Given the description of an element on the screen output the (x, y) to click on. 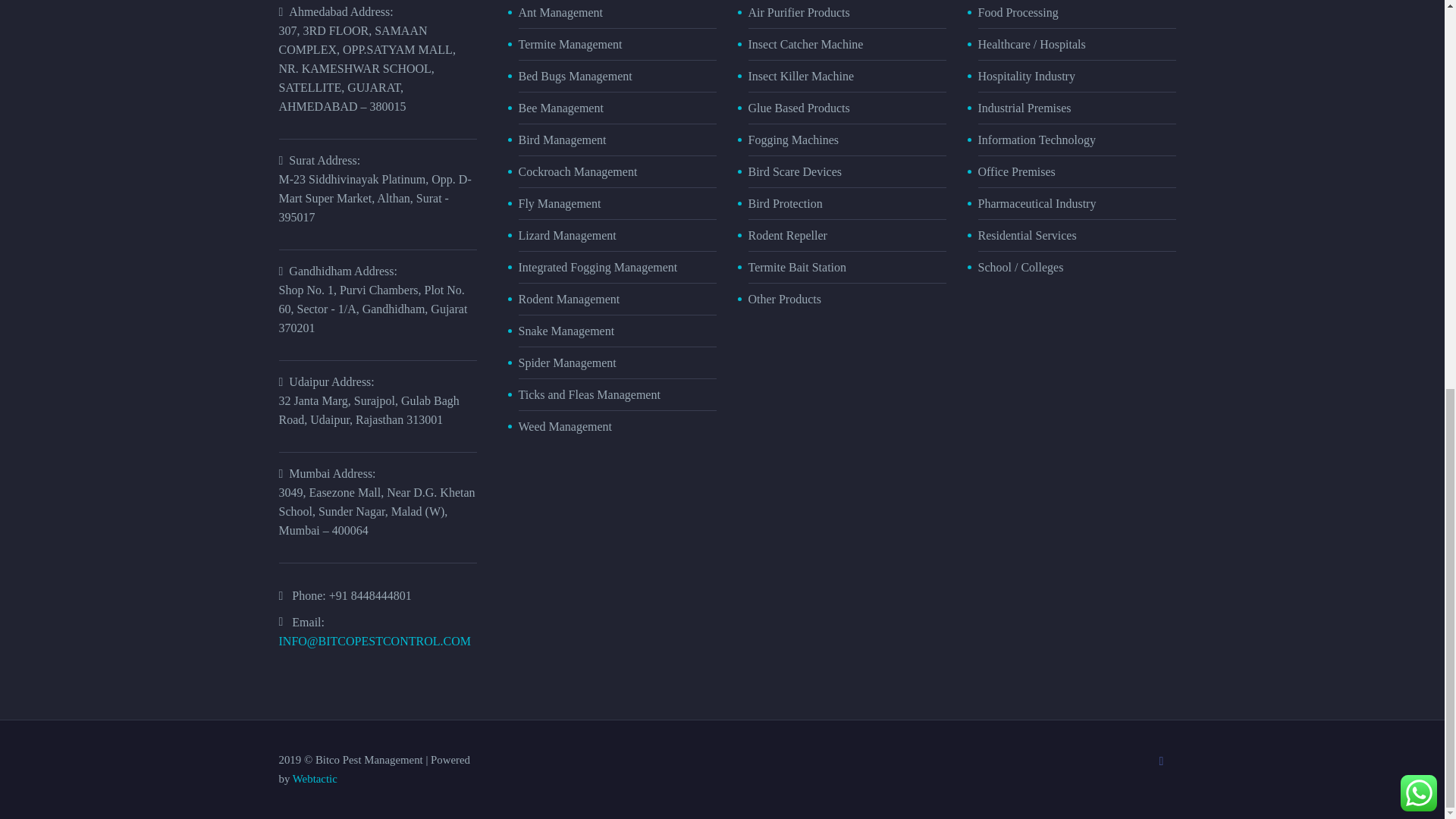
Facebook (1161, 761)
